Given the description of an element on the screen output the (x, y) to click on. 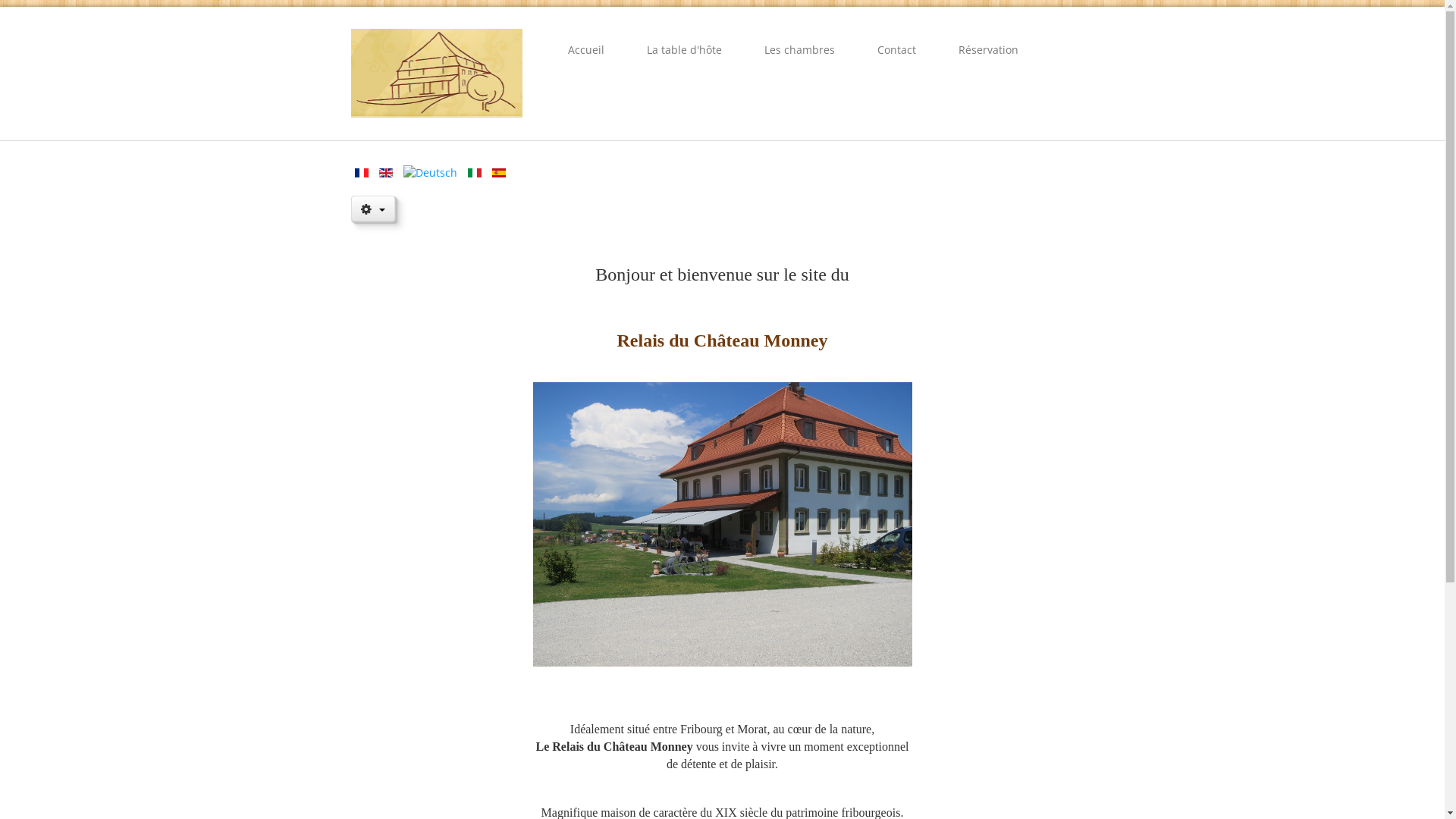
Spanish Element type: hover (498, 172)
Italian Element type: hover (473, 172)
Deutsch Element type: hover (430, 172)
English (UK) Element type: hover (385, 172)
Contact Element type: text (896, 49)
Les chambres Element type: text (799, 49)
Accueil Element type: text (586, 49)
